Given the description of an element on the screen output the (x, y) to click on. 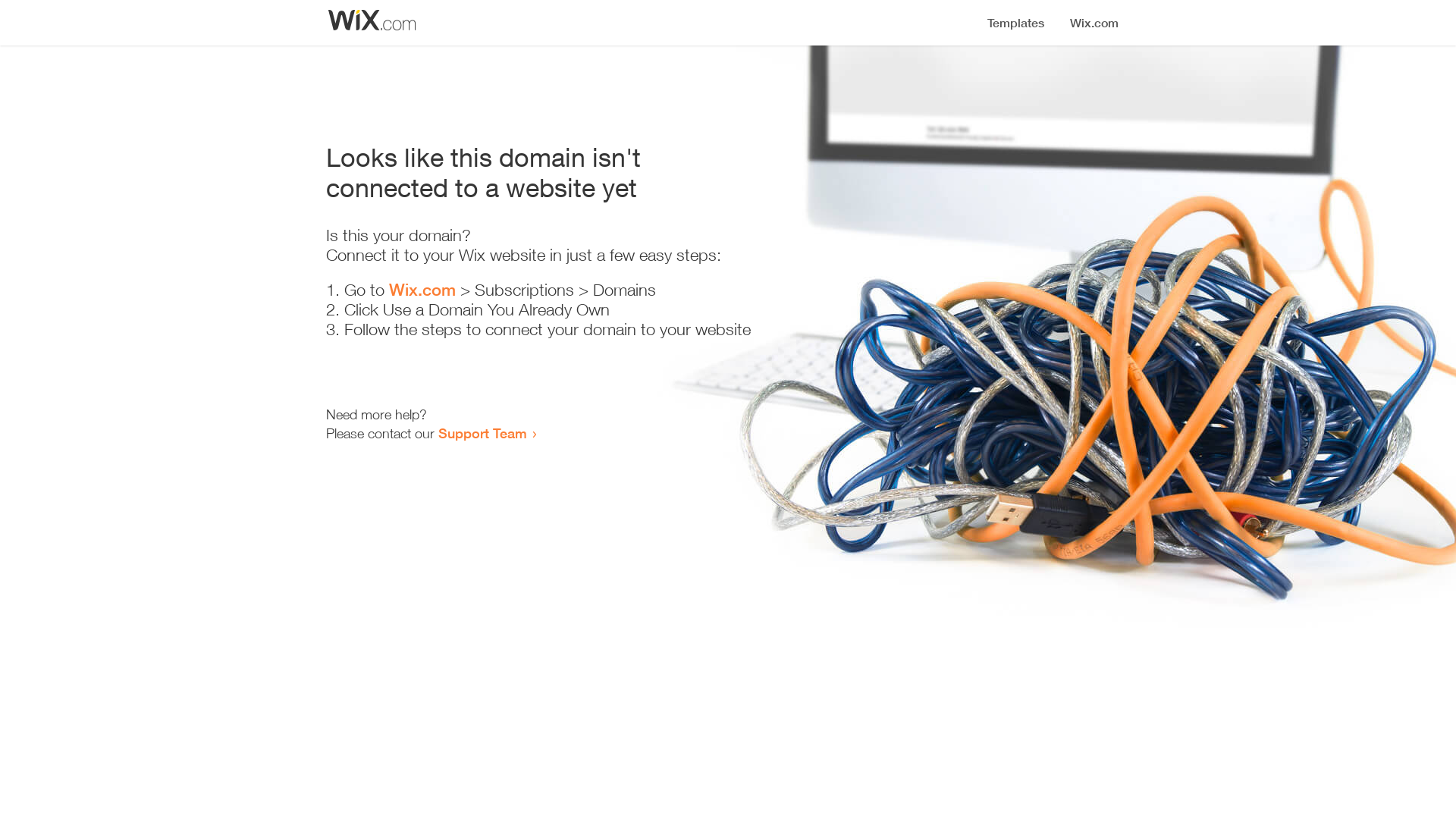
Support Team Element type: text (482, 432)
Wix.com Element type: text (422, 289)
